Given the description of an element on the screen output the (x, y) to click on. 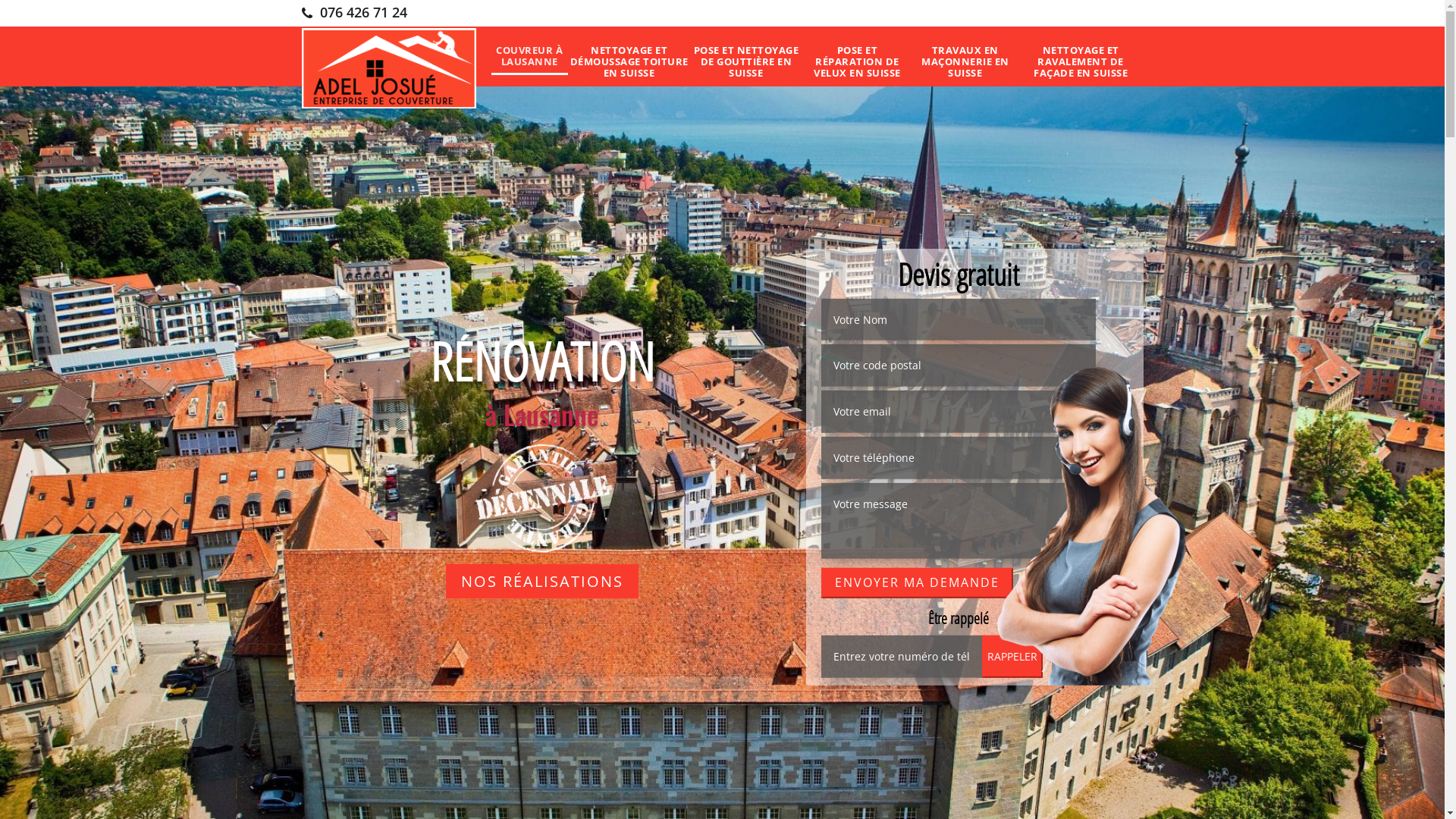
M. Adel Element type: hover (388, 67)
RAPPELER Element type: text (1011, 656)
Envoyer ma demande Element type: text (916, 582)
076 426 71 24 Element type: text (354, 12)
